Given the description of an element on the screen output the (x, y) to click on. 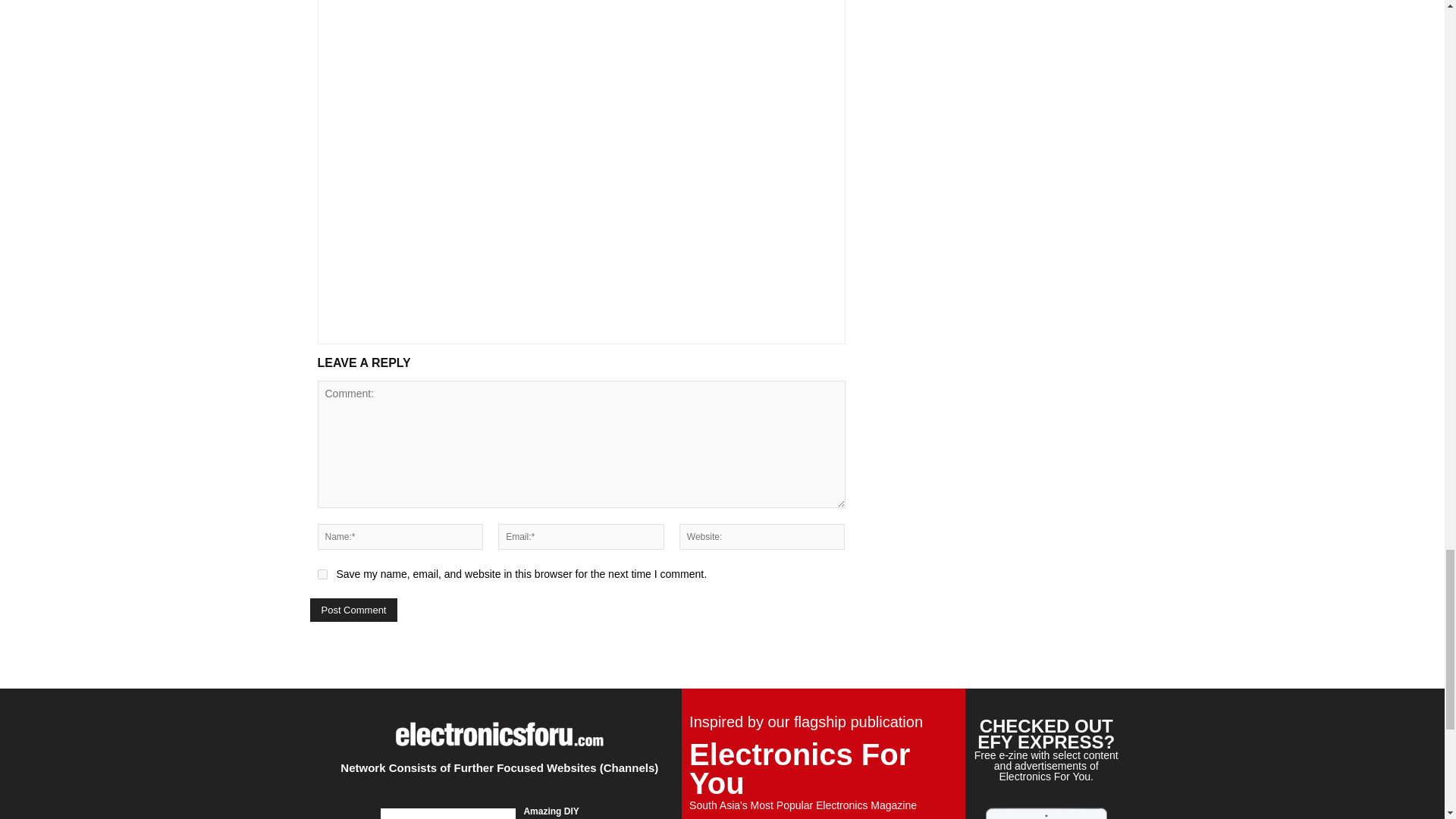
yes (321, 574)
Post Comment (352, 609)
